Given the description of an element on the screen output the (x, y) to click on. 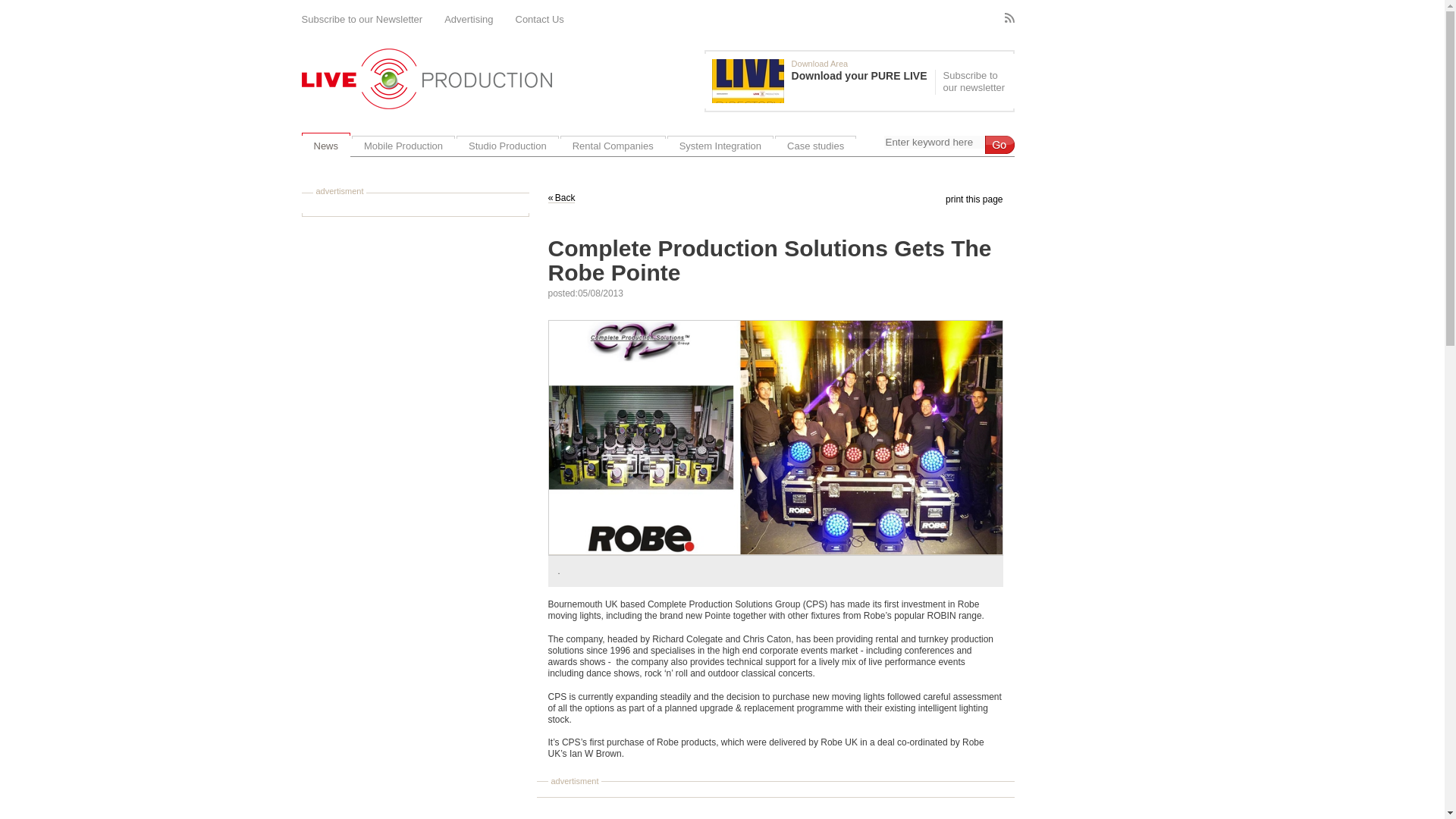
RSS (1008, 17)
Subscribe to our newsletter (972, 82)
Advertising (468, 19)
Publication (822, 80)
PURE LIVE 2018 (747, 80)
Subscribe to our Newsletter (362, 19)
Contact Us (539, 19)
Go (998, 144)
